Given the description of an element on the screen output the (x, y) to click on. 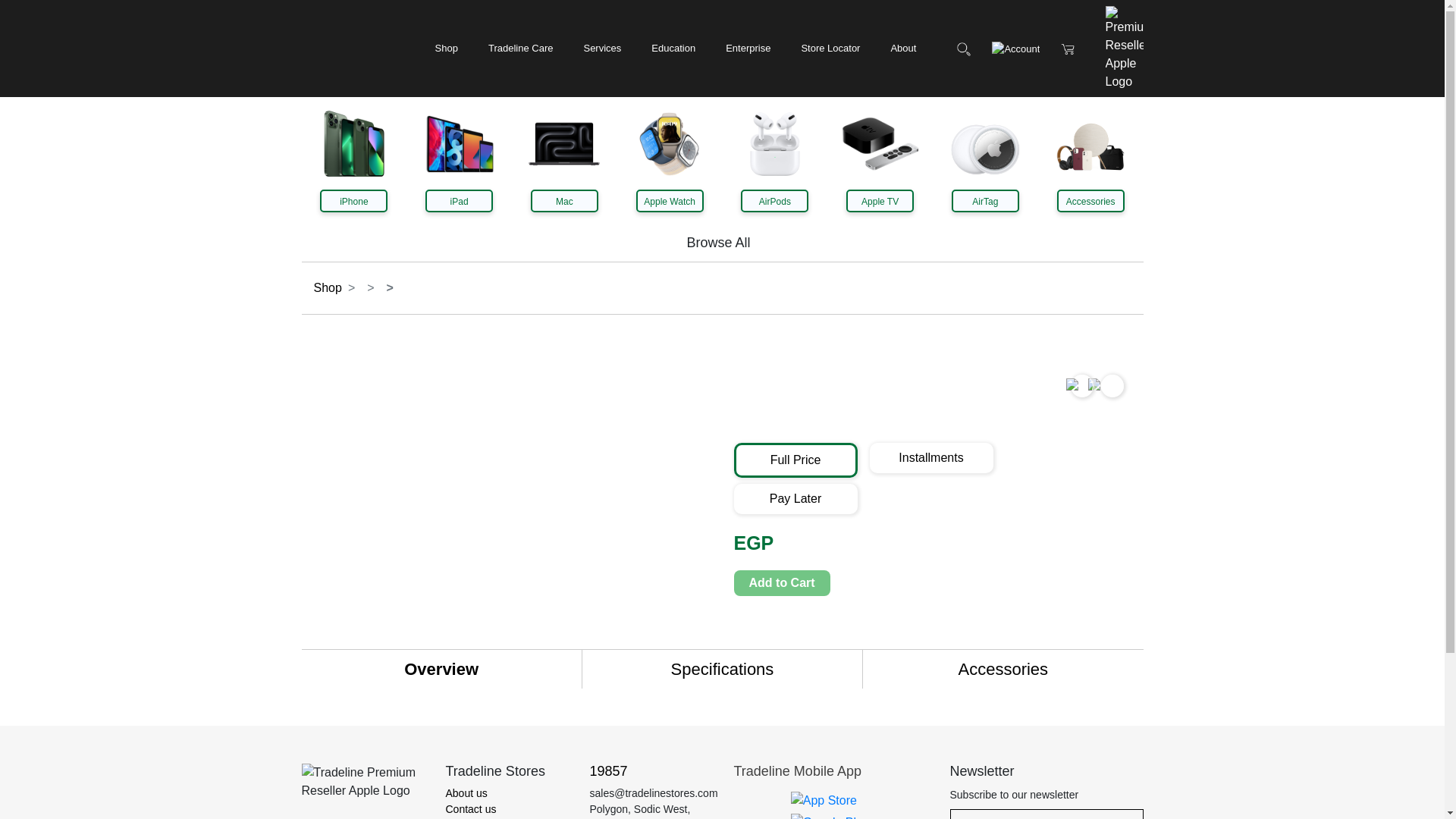
Cart (1067, 49)
iPad (459, 200)
AirPods (774, 200)
Store Locator (830, 47)
Tradeline Care (520, 47)
Enterprise (747, 47)
Account (1015, 48)
Search (963, 49)
Enterprise (747, 47)
Mac (564, 200)
Account (1015, 48)
Education (673, 47)
Apple Watch (669, 200)
iPhone (353, 200)
